Given the description of an element on the screen output the (x, y) to click on. 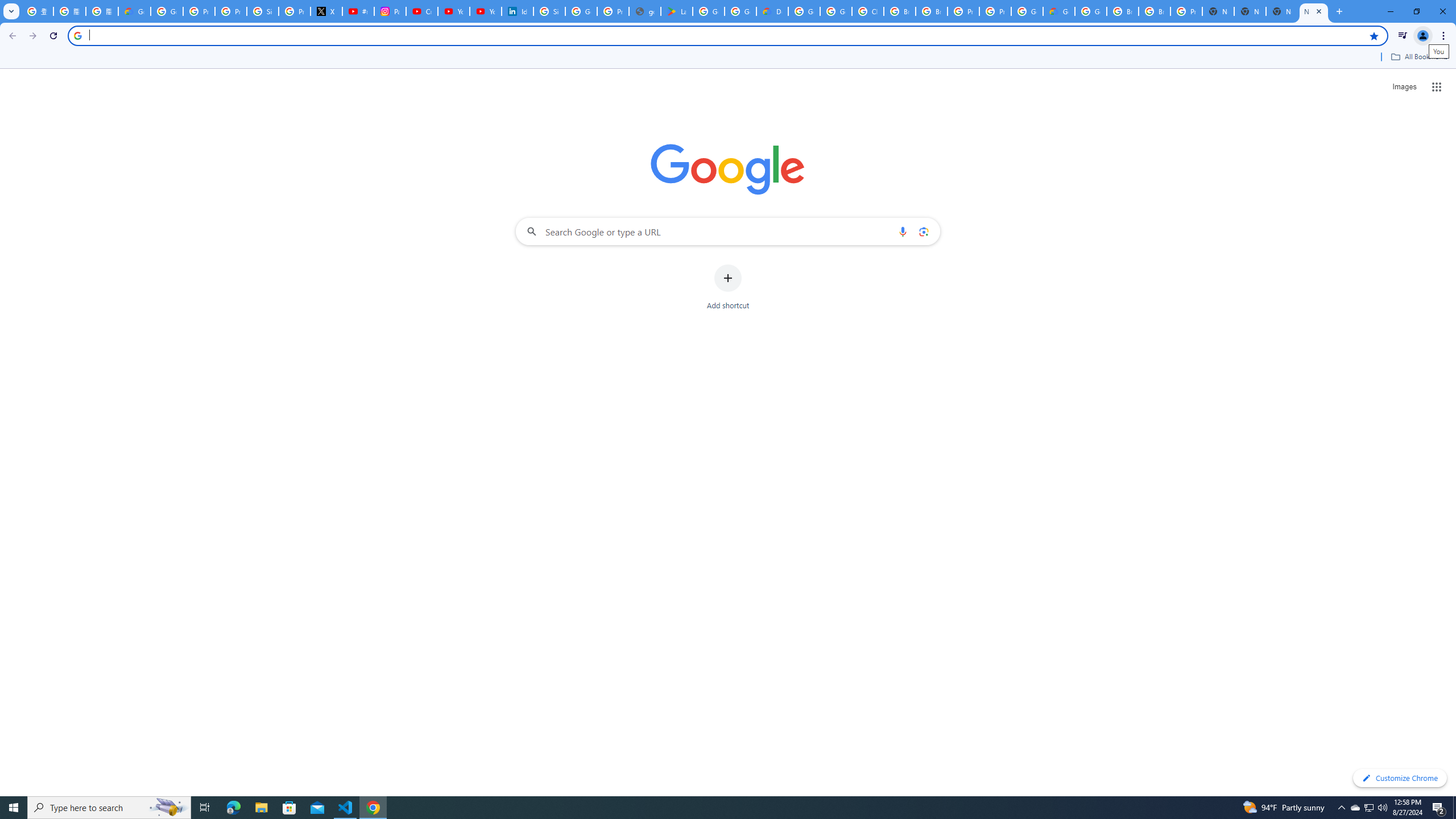
New Tab (1313, 11)
Google Cloud Platform (804, 11)
Identity verification via Persona | LinkedIn Help (517, 11)
Search icon (77, 35)
Google Workspace - Specific Terms (740, 11)
Browse Chrome as a guest - Computer - Google Chrome Help (1154, 11)
